Given the description of an element on the screen output the (x, y) to click on. 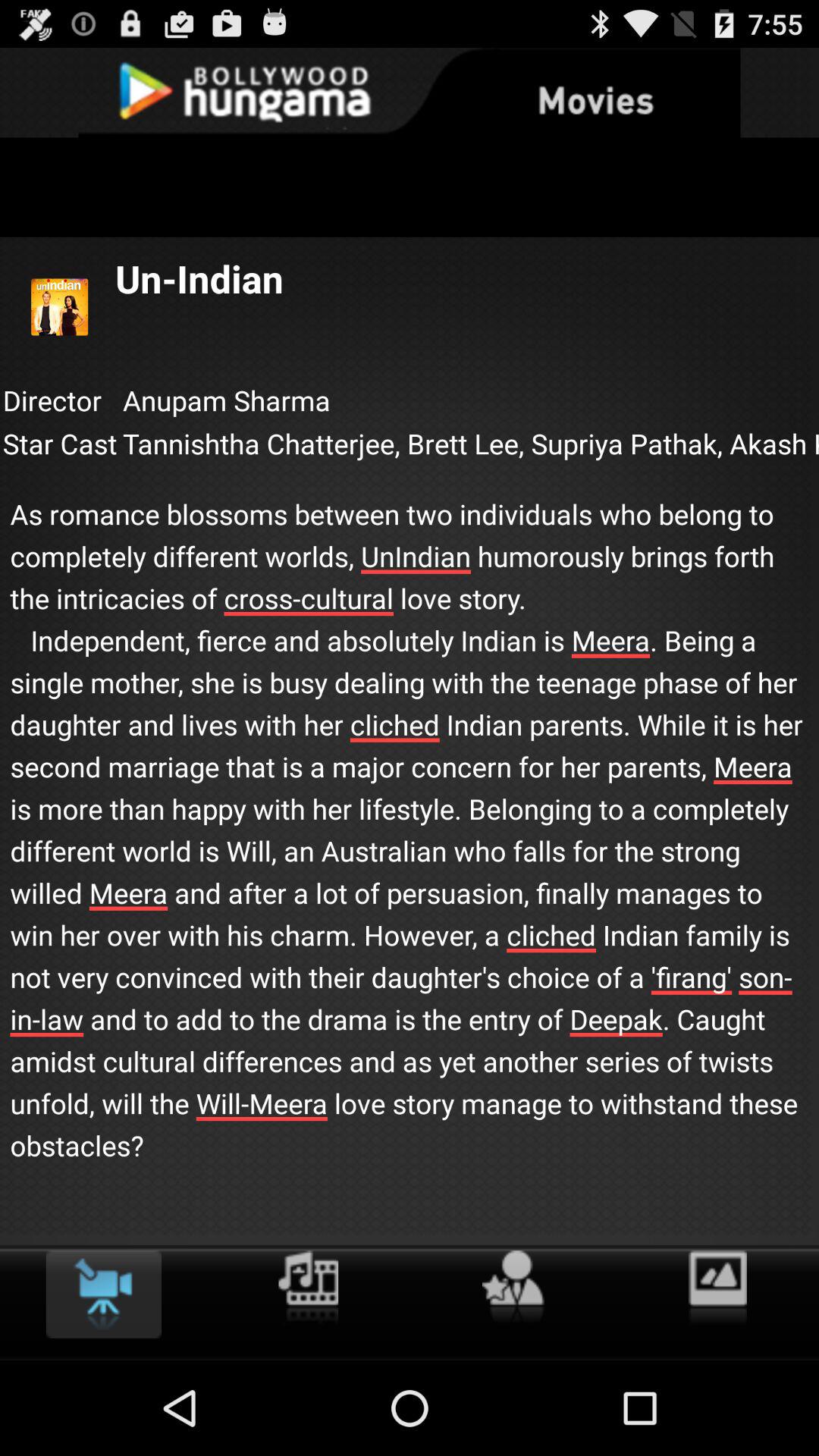
choose the icon at the bottom left corner (103, 1294)
